Given the description of an element on the screen output the (x, y) to click on. 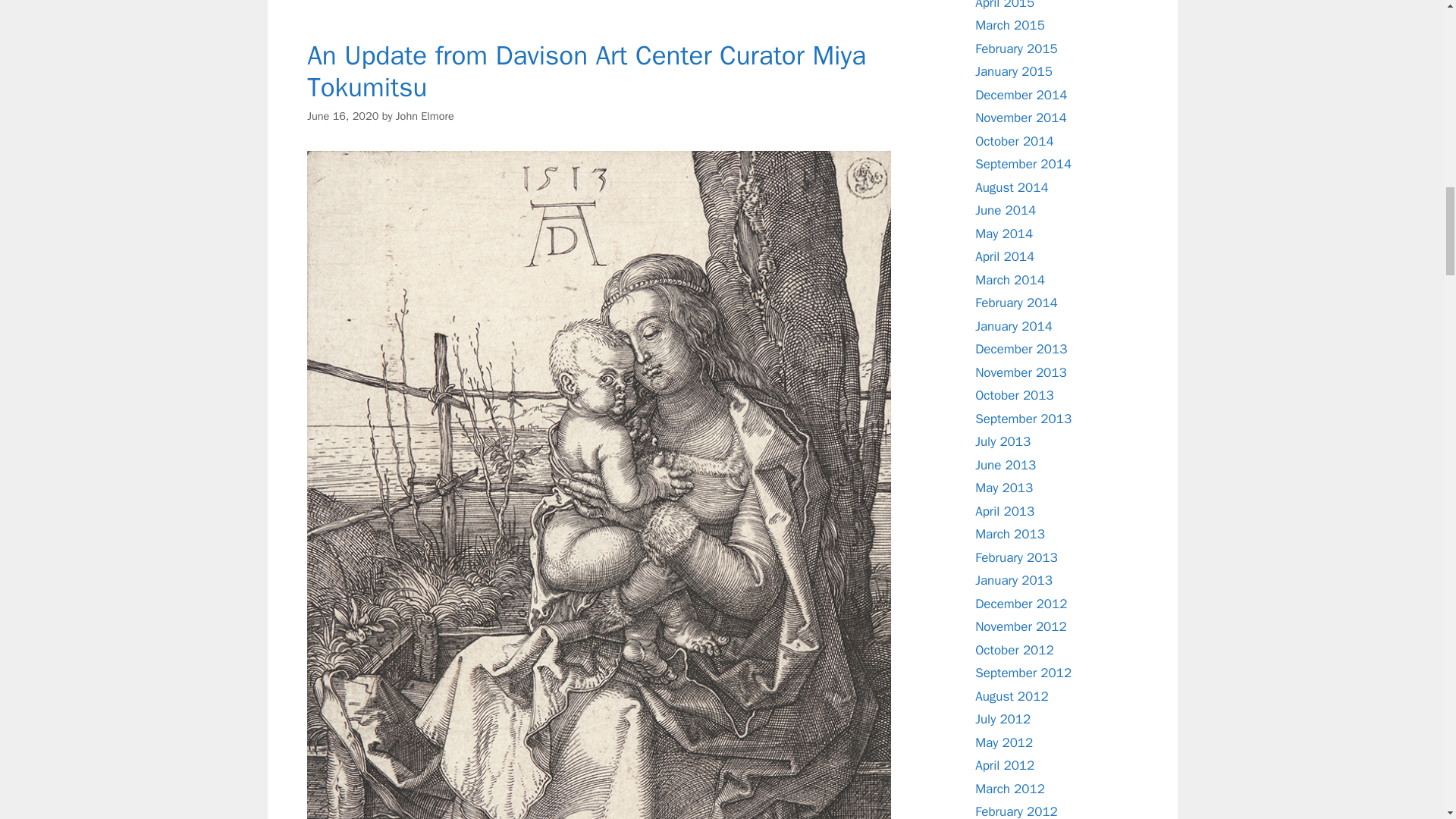
John Elmore (425, 115)
An Update from Davison Art Center Curator Miya Tokumitsu (586, 71)
View all posts by John Elmore (425, 115)
